Given the description of an element on the screen output the (x, y) to click on. 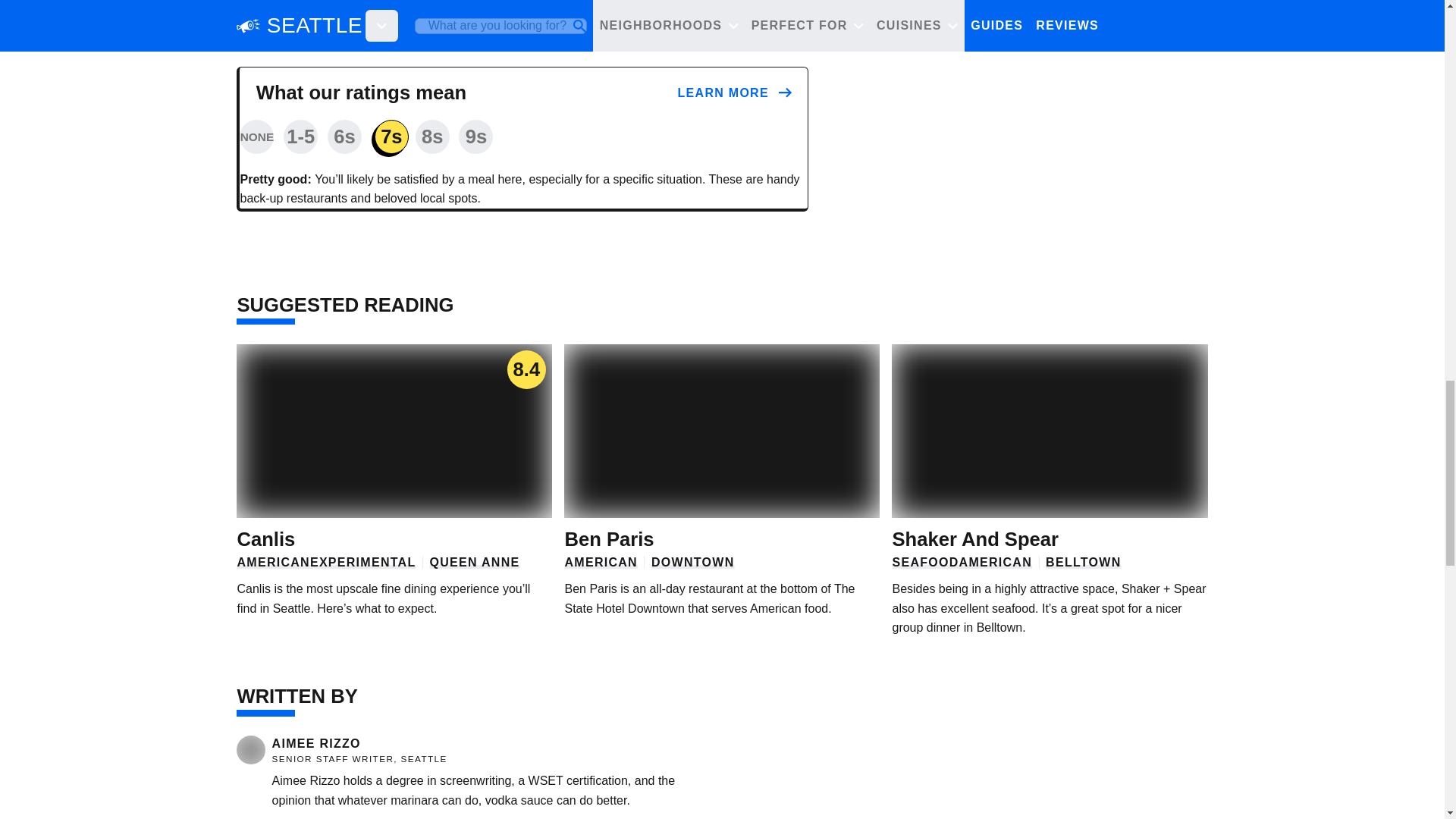
AMERICAN (600, 562)
Ben Paris (608, 538)
LEARN MORE (735, 93)
Canlis (265, 538)
EXPERIMENTAL (363, 562)
AMERICAN (271, 562)
QUEEN ANNE (474, 562)
